Given the description of an element on the screen output the (x, y) to click on. 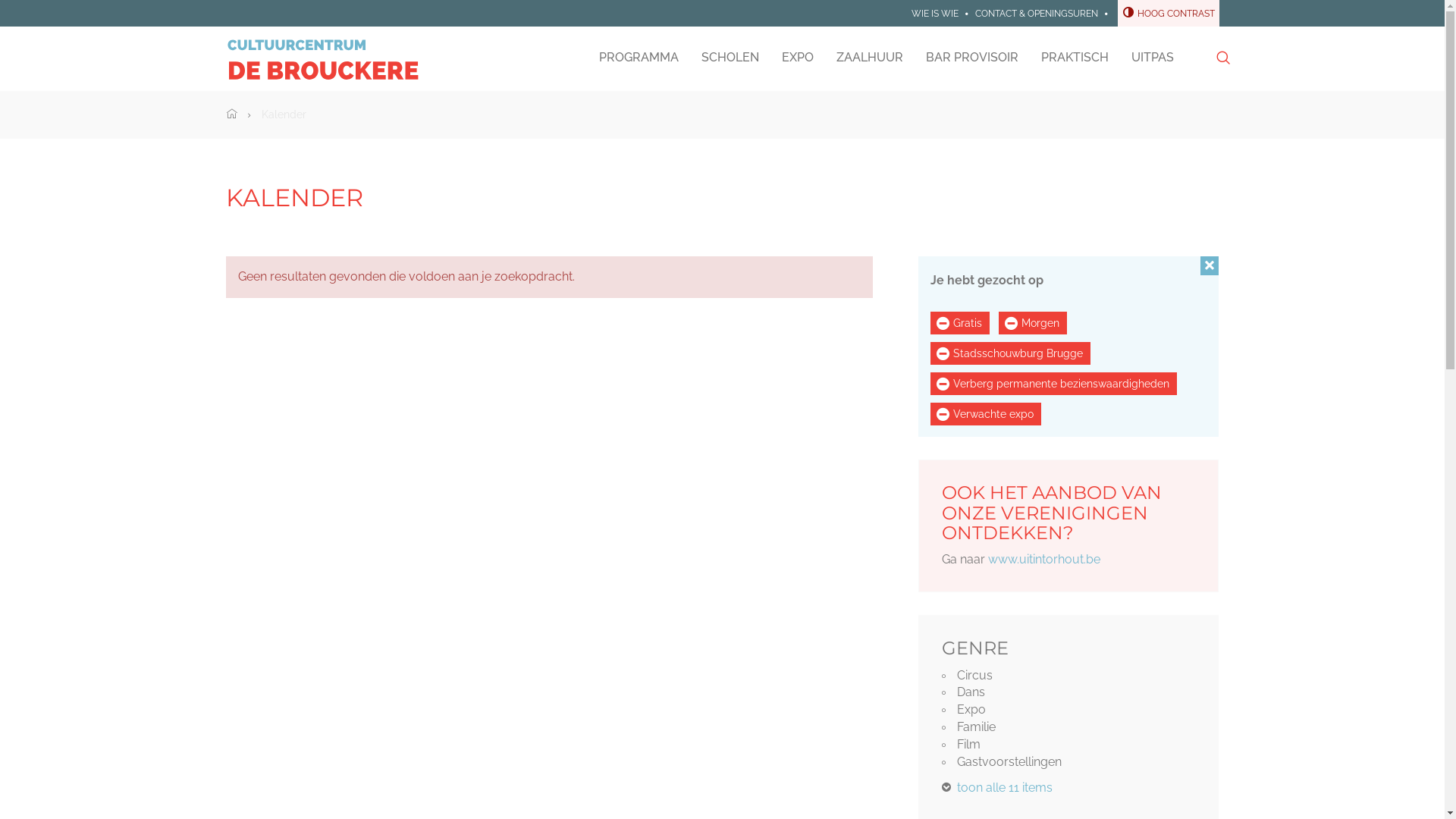
Zoeken Element type: text (1222, 57)
Dans Element type: text (1068, 692)
EXPO Element type: text (797, 57)
CC De Brouckere Element type: text (322, 58)
www.uitintorhout.be Element type: text (1044, 559)
Morgen Element type: text (1032, 322)
Home"> Element type: text (231, 114)
PRAKTISCH Element type: text (1074, 57)
Expo Element type: text (1068, 709)
PROGRAMMA Element type: text (637, 57)
SCHOLEN Element type: text (730, 57)
WIE IS WIE Element type: text (934, 13)
ZAALHUUR Element type: text (869, 57)
Verwachte expo Element type: text (985, 413)
Stadsschouwburg Brugge Element type: text (1010, 353)
Alle filters verwijderen Element type: text (1209, 265)
CONTACT & OPENINGSUREN Element type: text (1036, 13)
BAR PROVISOIR Element type: text (971, 57)
Gastvoorstellingen Element type: text (1068, 762)
toon alle 11 items Element type: text (996, 787)
Verberg permanente bezienswaardigheden Element type: text (1053, 383)
Familie Element type: text (1068, 727)
Gratis Element type: text (959, 322)
HOOG CONTRAST Element type: text (1168, 13)
UITPAS Element type: text (1151, 57)
Film Element type: text (1068, 744)
Circus Element type: text (1068, 675)
